Given the description of an element on the screen output the (x, y) to click on. 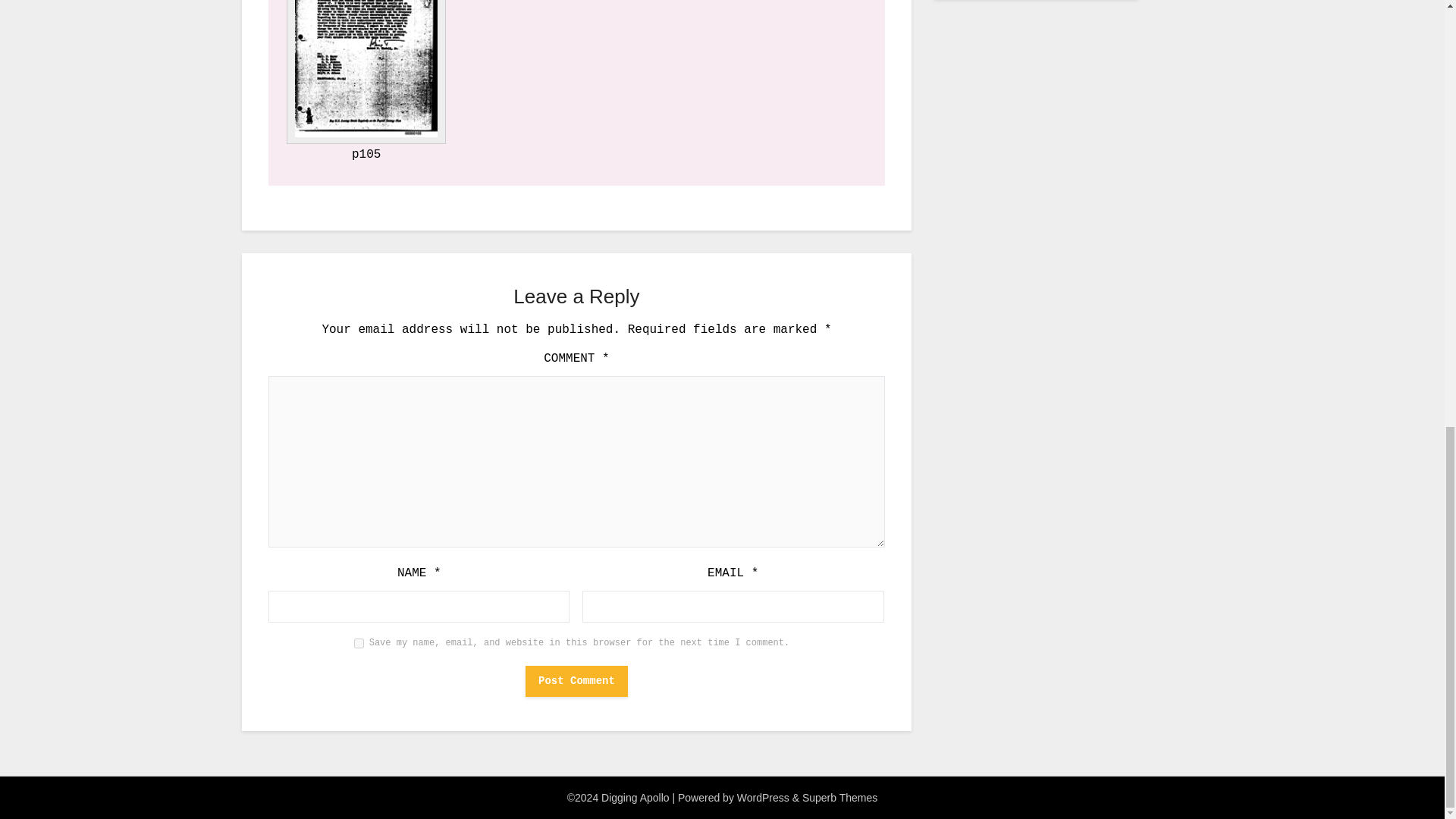
yes (358, 643)
Post Comment (576, 680)
Post Comment (576, 680)
